Given the description of an element on the screen output the (x, y) to click on. 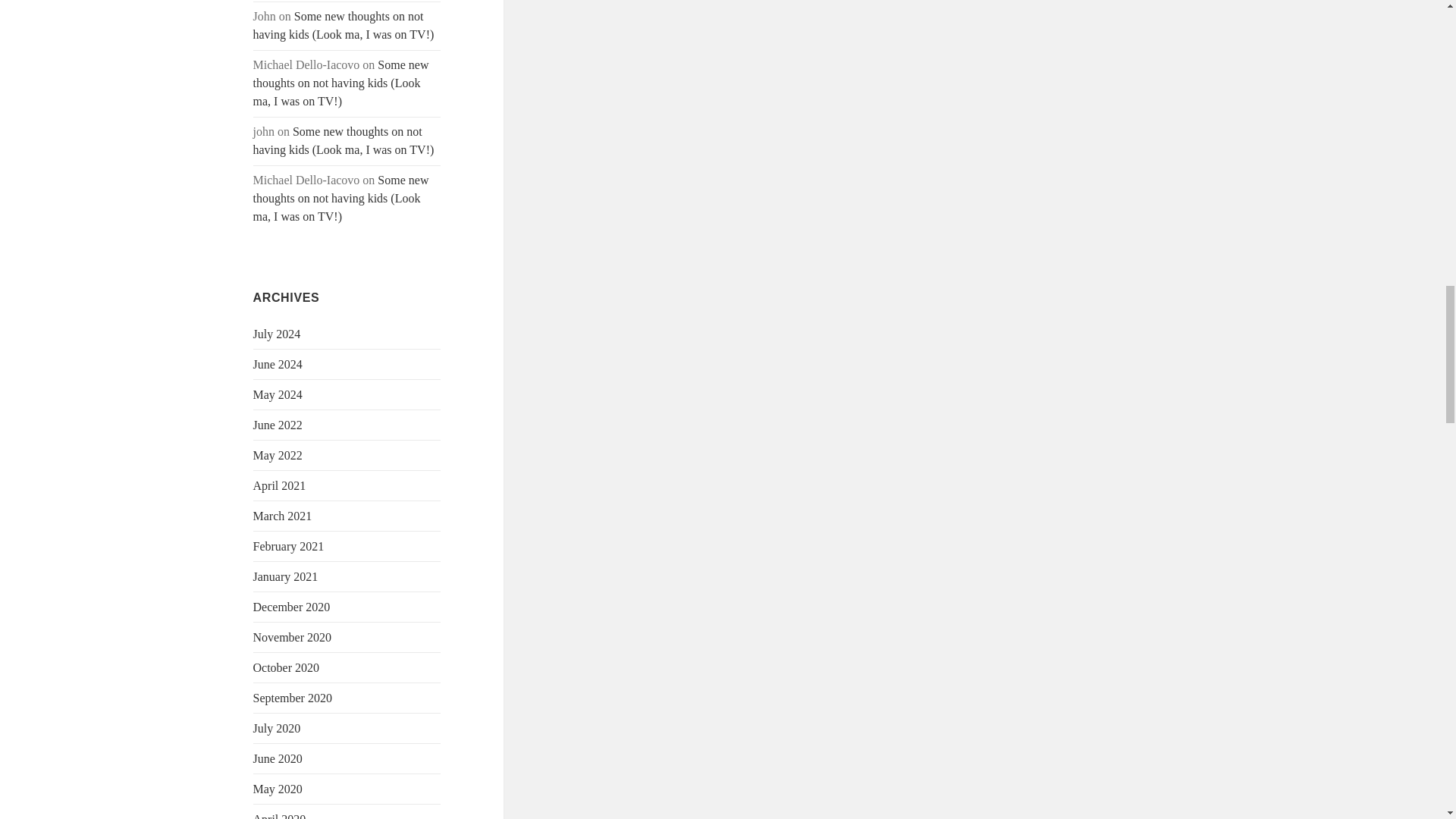
May 2024 (277, 394)
May 2022 (277, 454)
September 2020 (292, 697)
January 2021 (285, 576)
July 2020 (277, 727)
November 2020 (292, 636)
June 2022 (277, 424)
July 2024 (277, 333)
December 2020 (291, 606)
March 2021 (283, 515)
